Given the description of an element on the screen output the (x, y) to click on. 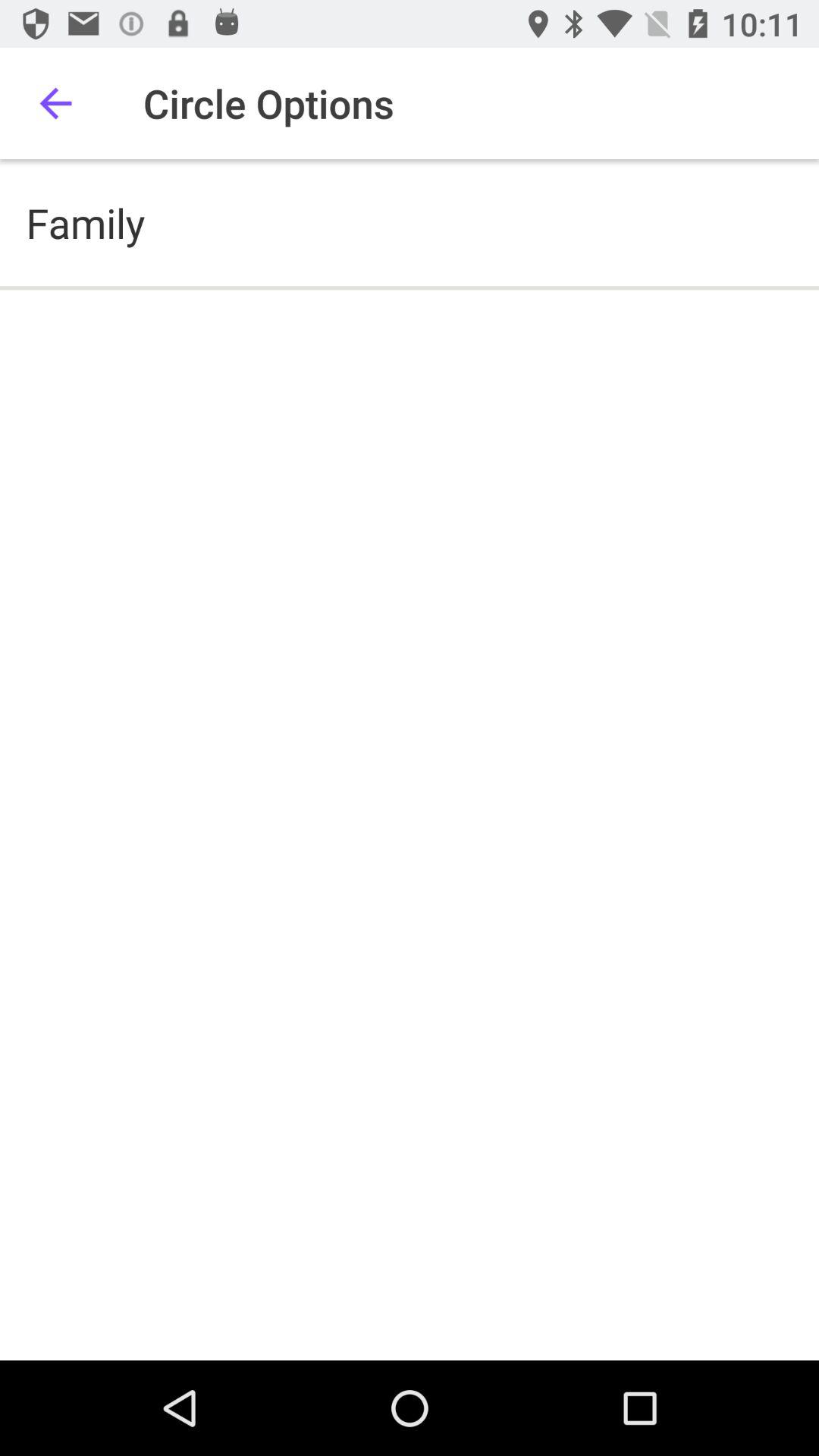
open the icon next to circle options icon (55, 103)
